Given the description of an element on the screen output the (x, y) to click on. 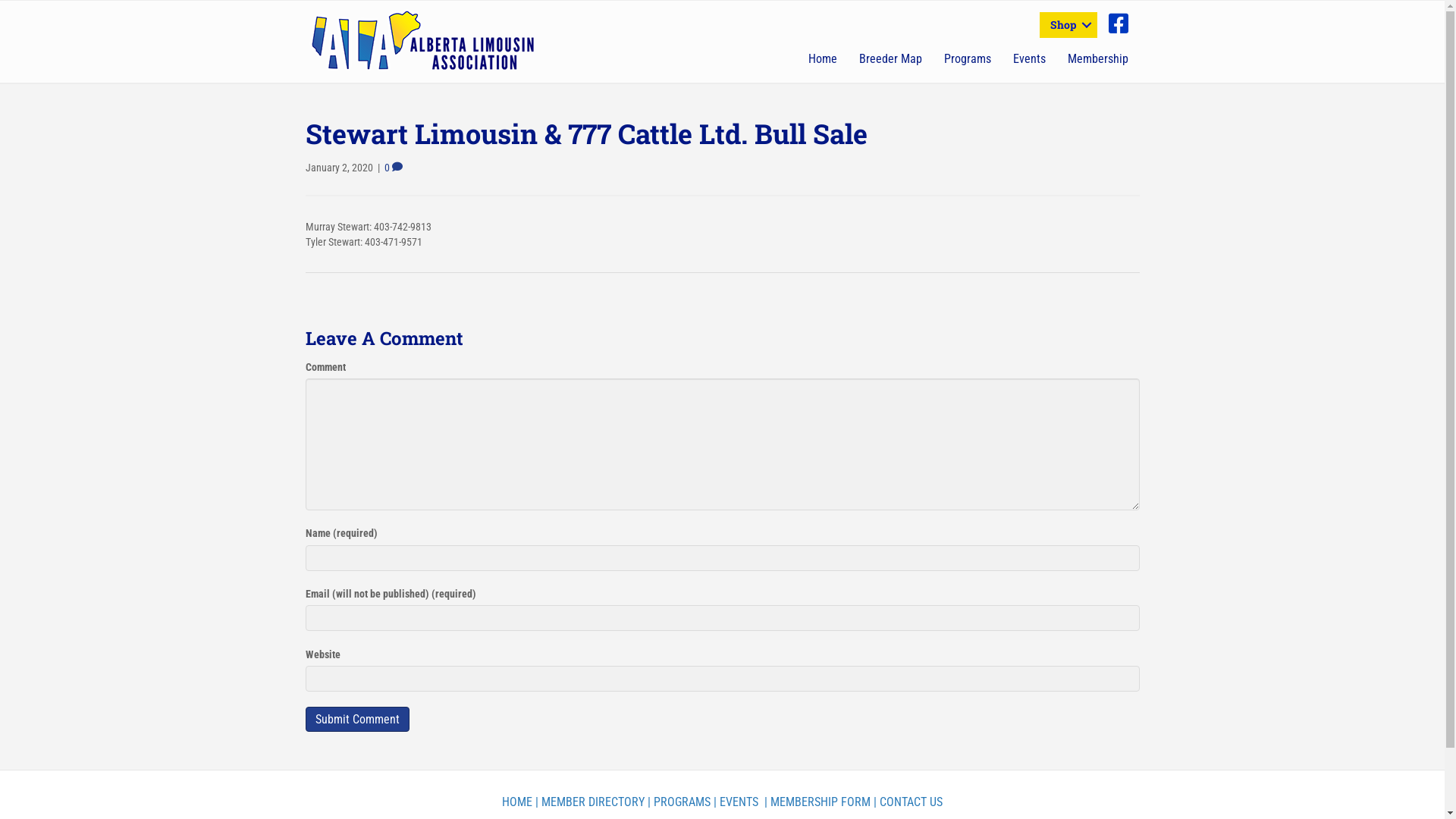
| Element type: text (648, 801)
Shop Element type: text (1068, 24)
header-logo Element type: hover (422, 40)
| Element type: text (874, 801)
| Element type: text (536, 801)
MEMBERSHIP FORM Element type: text (820, 801)
MEMBER DIRECTORY Element type: text (592, 801)
0 Element type: text (392, 167)
CONTACT US Element type: text (910, 801)
| Element type: text (714, 801)
HOME Element type: text (517, 801)
Breeder Map Element type: text (890, 58)
Submit Comment Element type: text (356, 718)
Membership Element type: text (1098, 58)
EVENTS Element type: text (738, 801)
Events Element type: text (1029, 58)
PROGRAMS Element type: text (681, 801)
  | Element type: text (764, 801)
Home Element type: text (822, 58)
Programs Element type: text (967, 58)
